Given the description of an element on the screen output the (x, y) to click on. 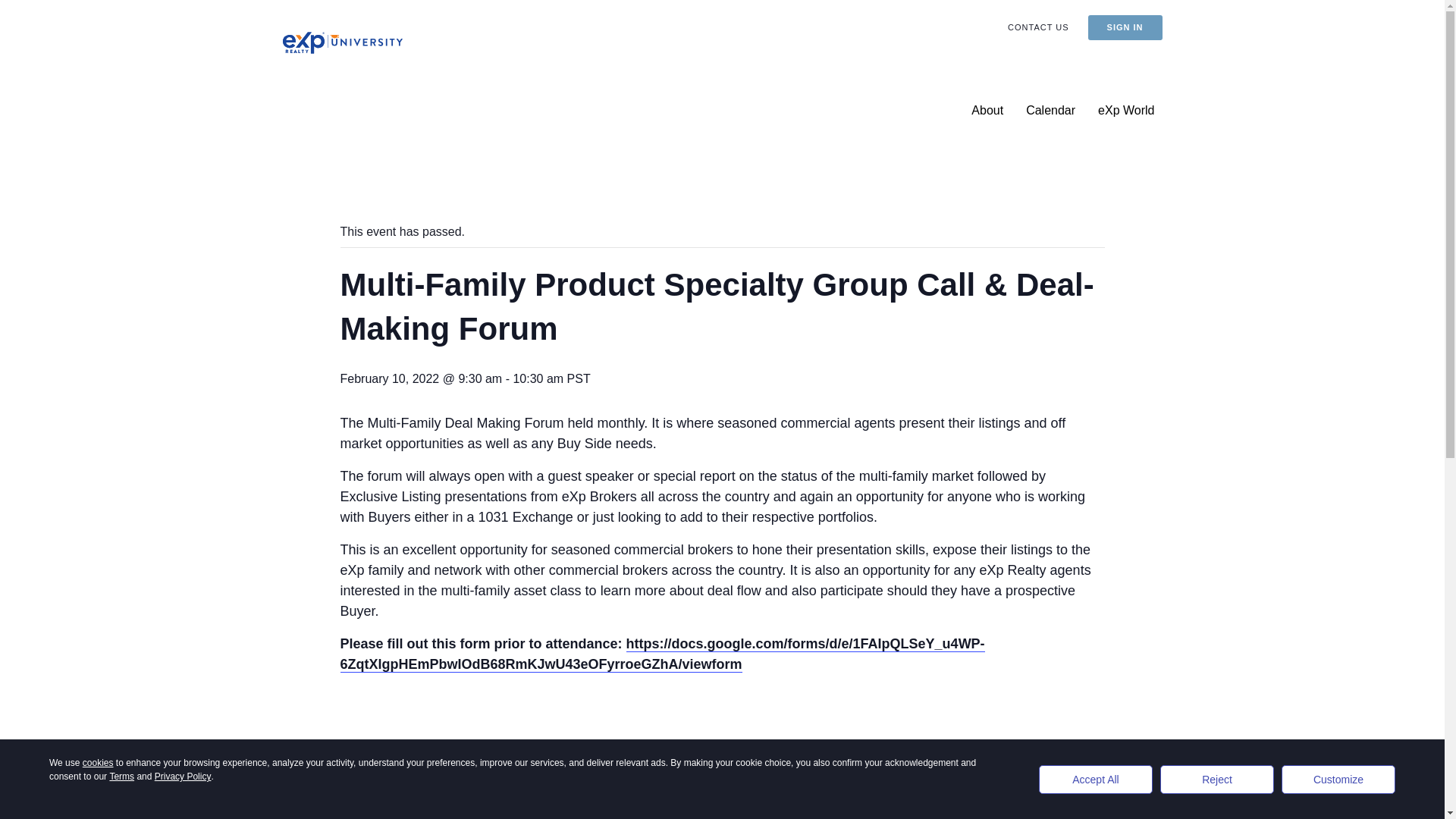
eXp World (1125, 110)
eXp World (1125, 110)
Calendar (1050, 110)
About (986, 110)
CONTACT US (1037, 27)
About (986, 110)
SIGN IN (1124, 27)
Calendar (1050, 110)
